Given the description of an element on the screen output the (x, y) to click on. 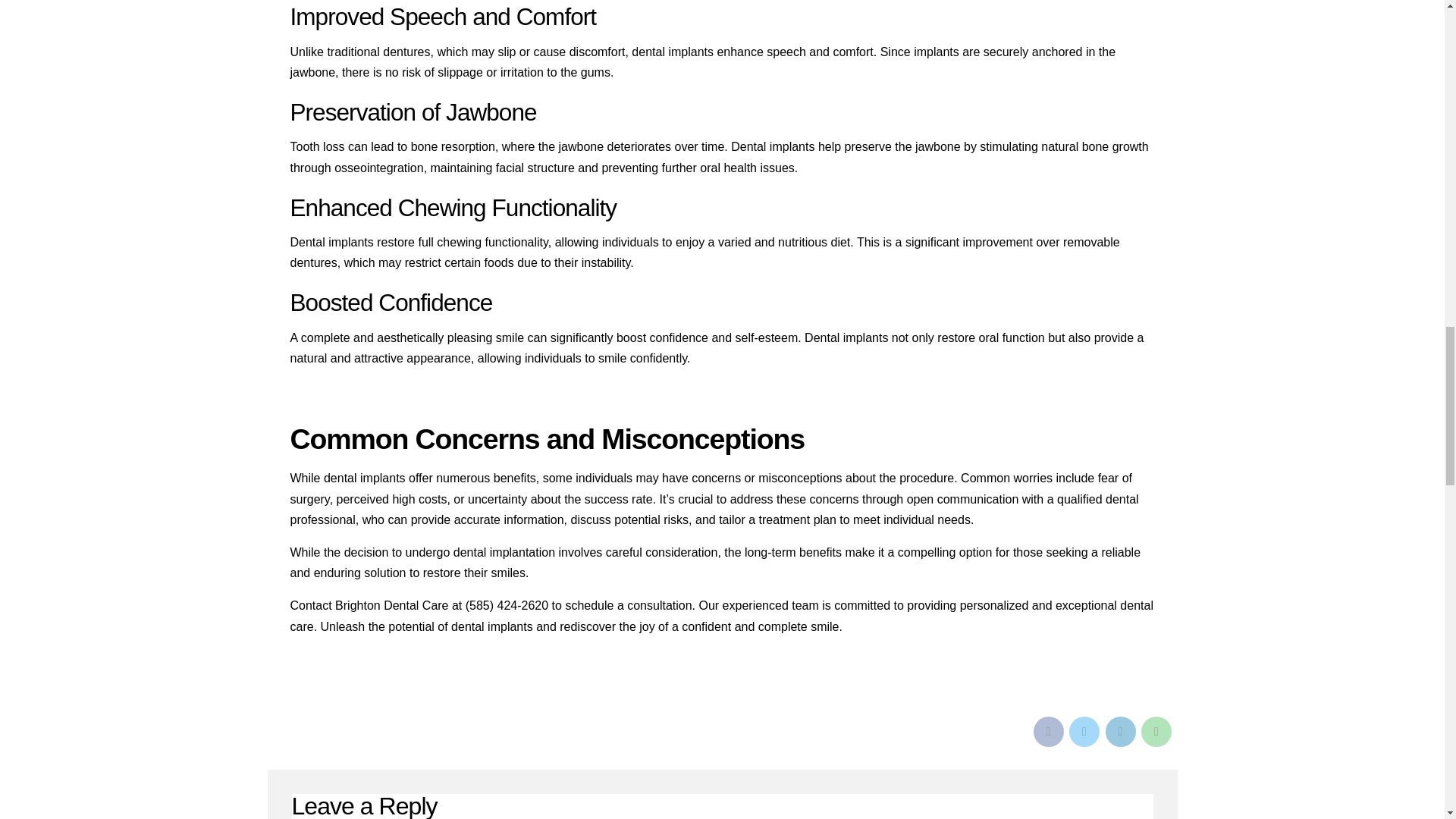
Share on Facebook (1047, 731)
Share on WhatsApp (1156, 731)
Share on Twitter (1083, 731)
Share on Linkedin (1120, 731)
